Given the description of an element on the screen output the (x, y) to click on. 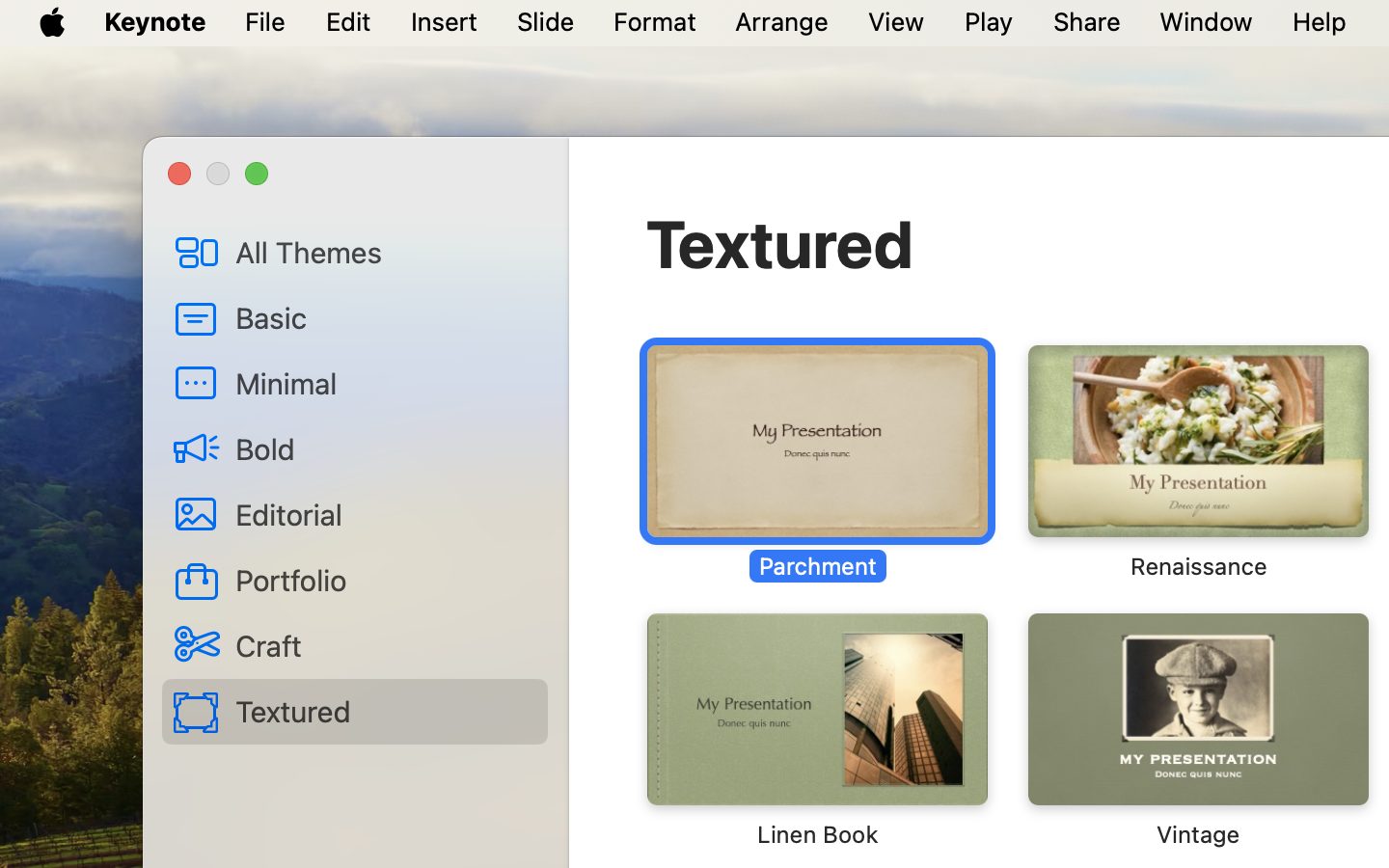
Editorial Element type: AXStaticText (383, 513)
Portfolio Element type: AXStaticText (383, 579)
Textured Element type: AXStaticText (780, 242)
‎⁨Vintage⁩ Element type: AXButton (1196, 731)
Minimal Element type: AXStaticText (383, 382)
